Given the description of an element on the screen output the (x, y) to click on. 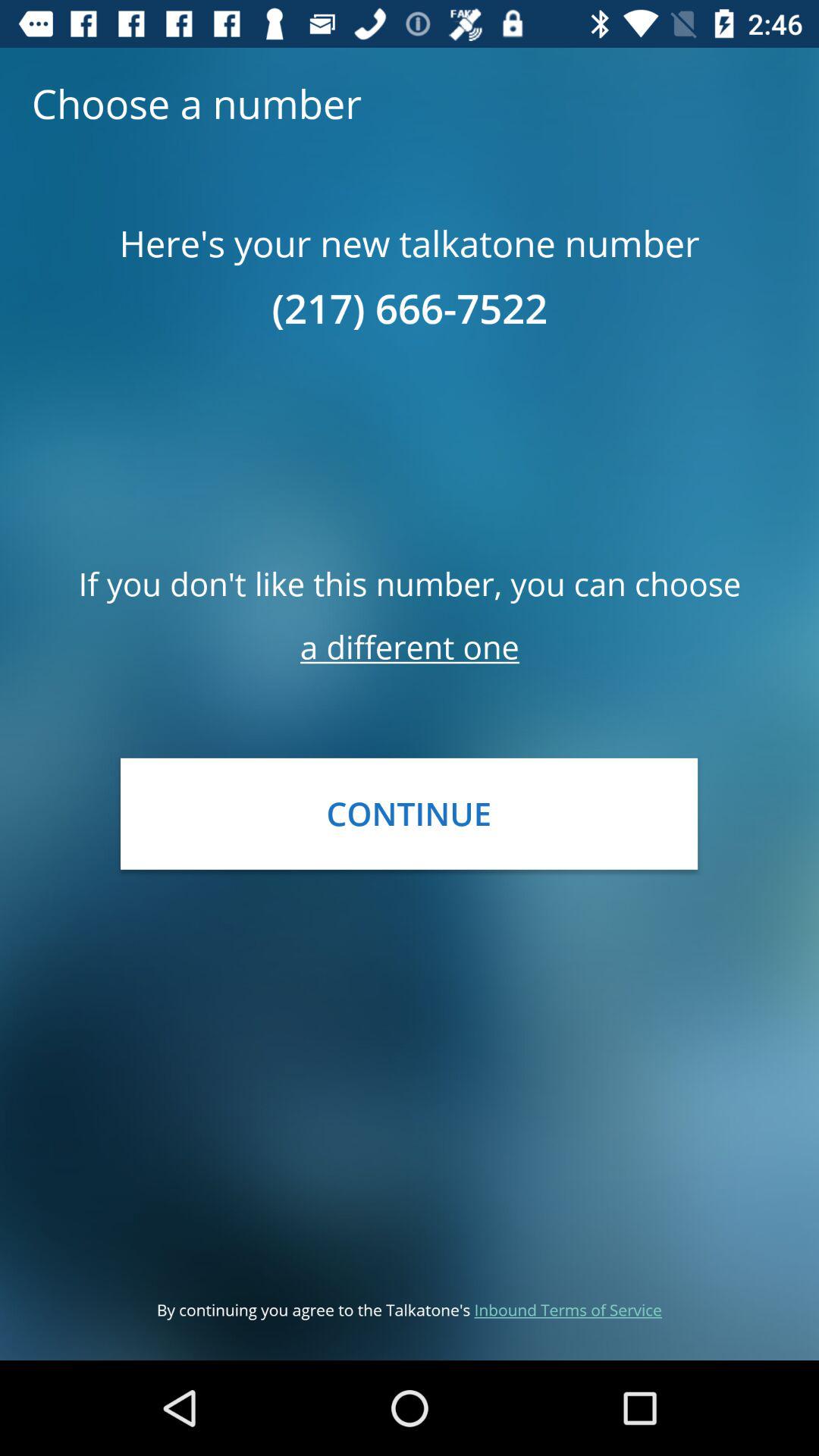
launch the icon below the if you don (409, 646)
